Given the description of an element on the screen output the (x, y) to click on. 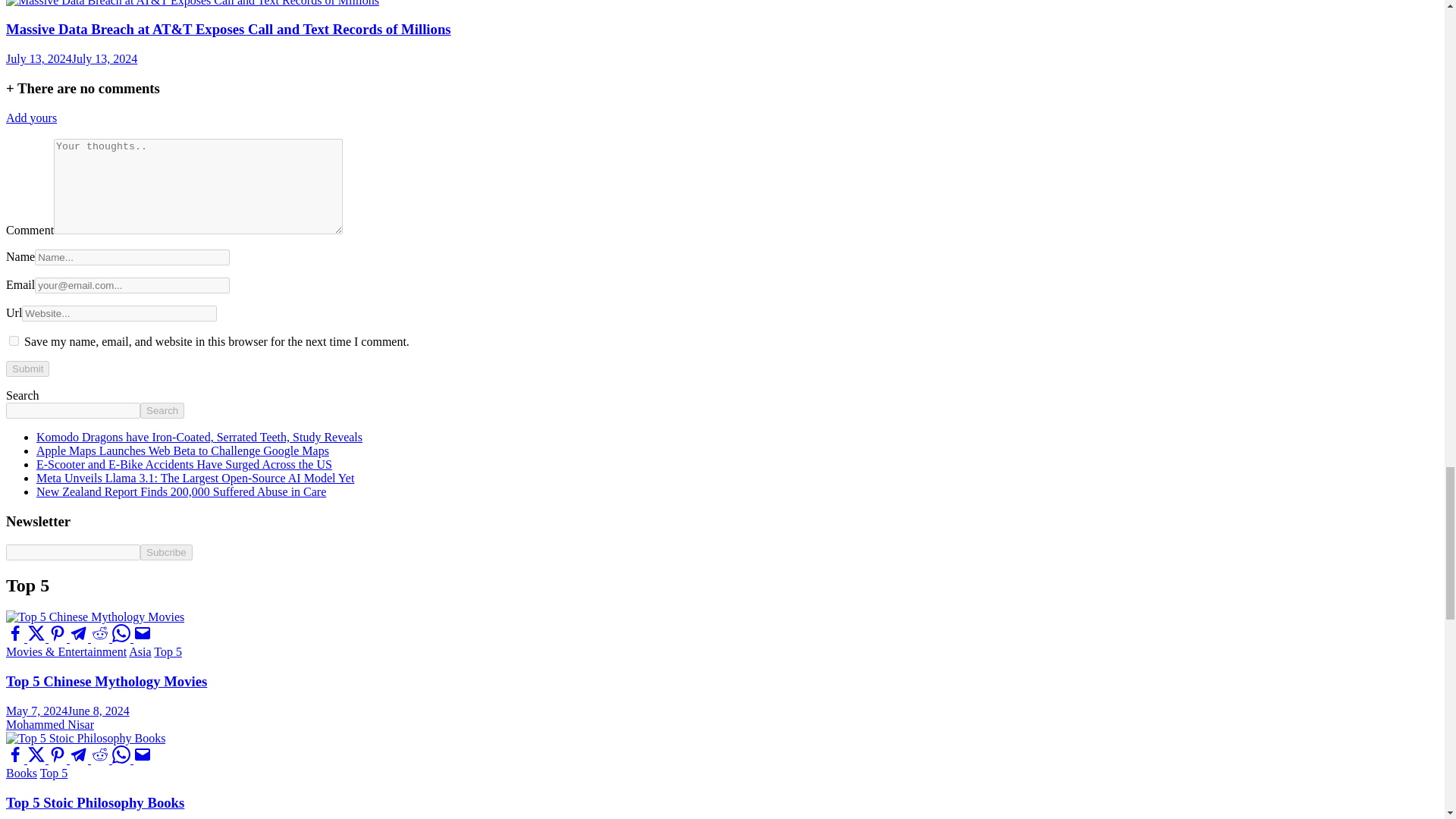
Submit (27, 368)
Subcribe (165, 552)
yes (13, 340)
